Given the description of an element on the screen output the (x, y) to click on. 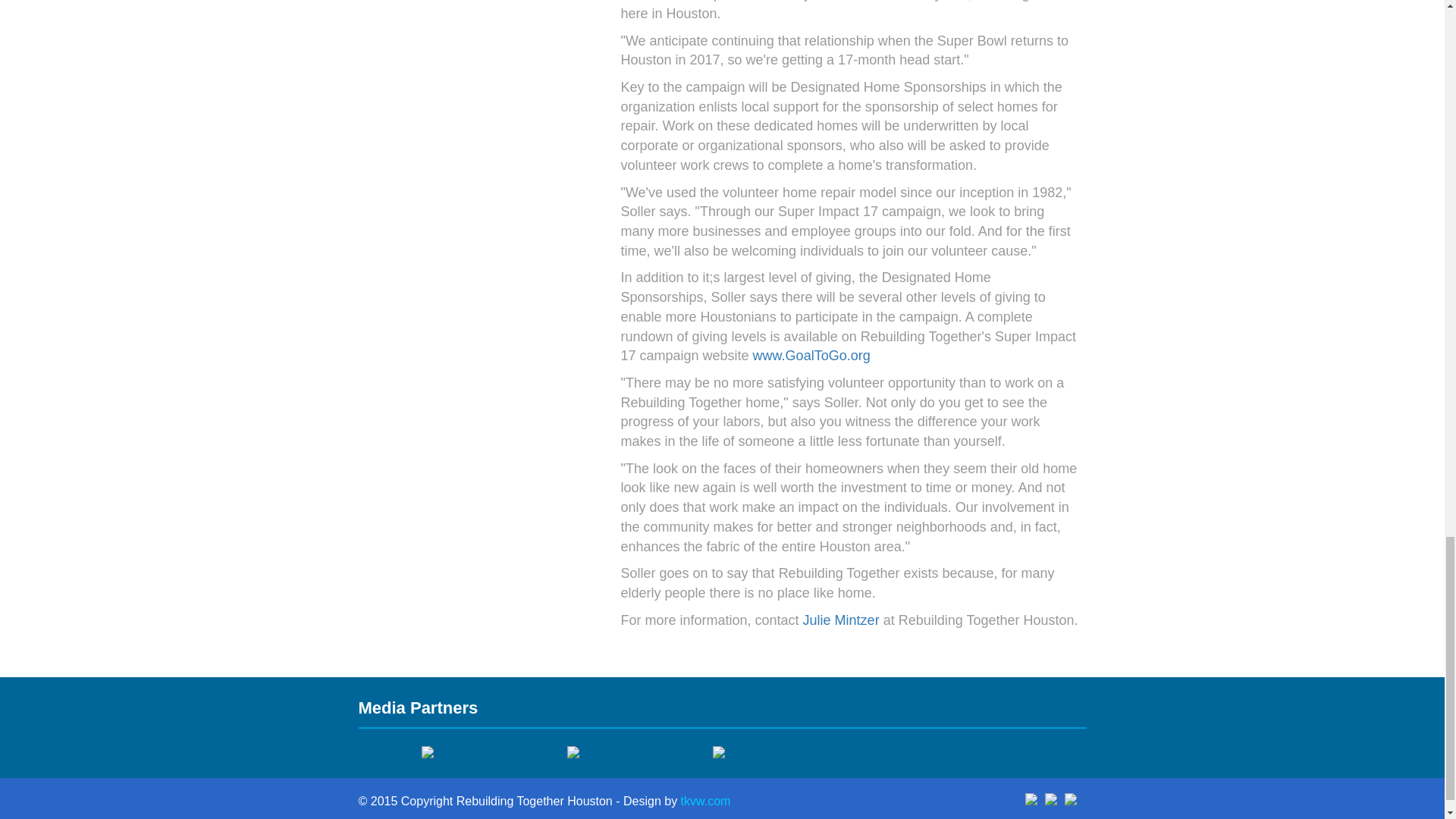
Julie Mintzer (841, 620)
www.GoalToGo.org (811, 355)
tkvw.com (705, 800)
